Given the description of an element on the screen output the (x, y) to click on. 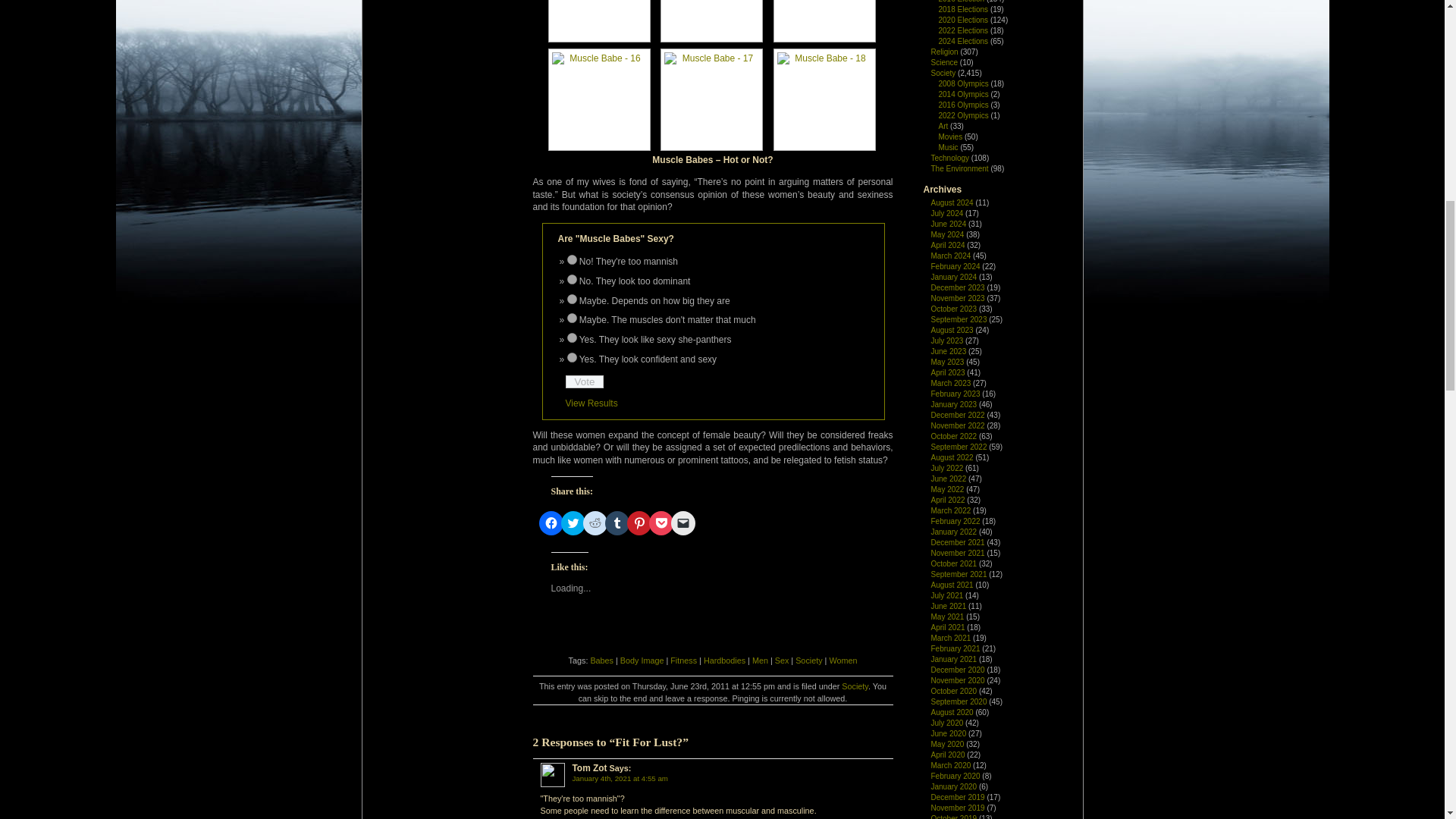
20 (571, 357)
18 (571, 317)
19 (571, 337)
17 (571, 298)
   Vote    (585, 381)
16 (571, 279)
15 (571, 259)
